Given the description of an element on the screen output the (x, y) to click on. 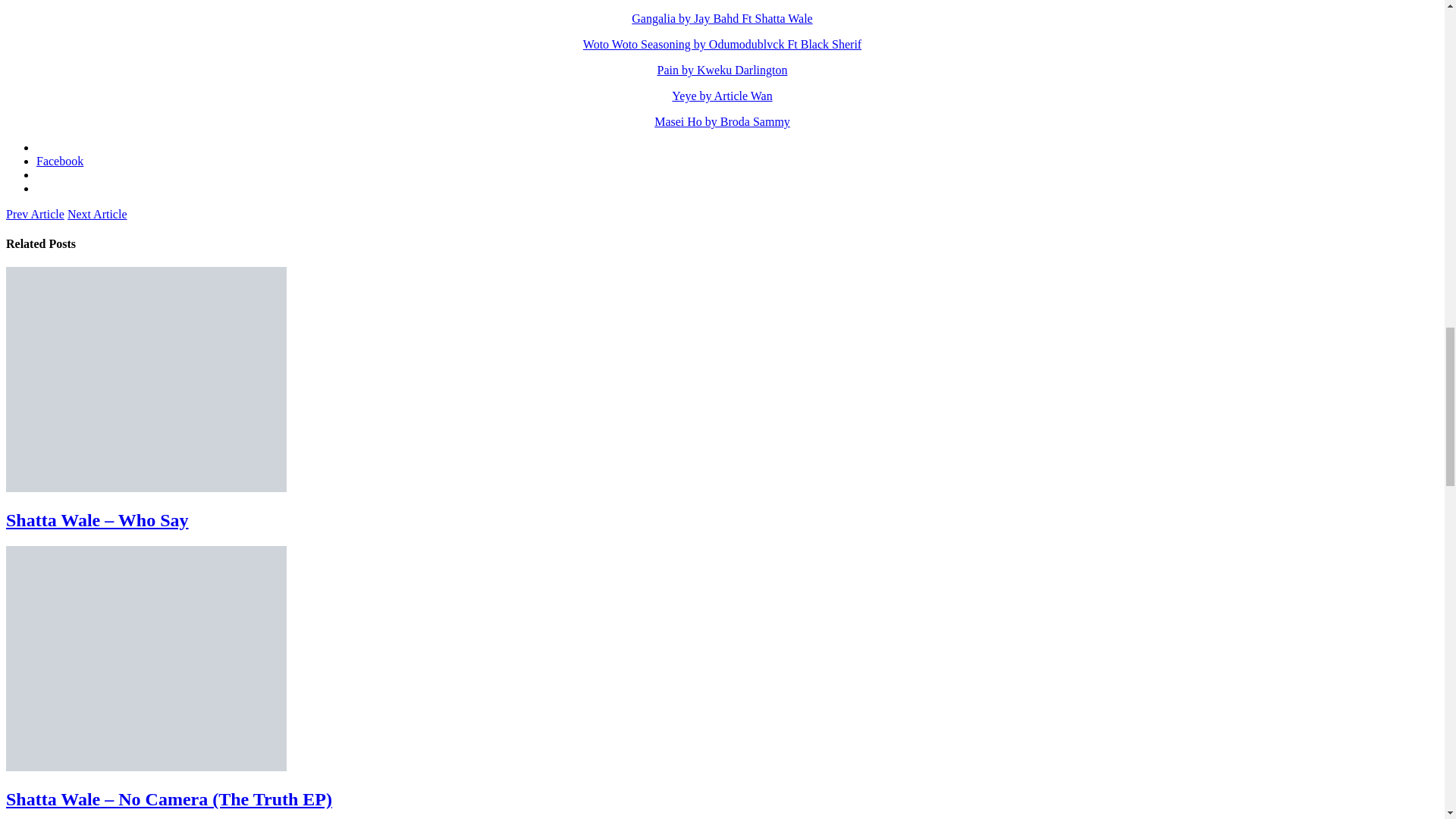
Pain by Kweku Darlington (721, 69)
Yeye by Article Wan (721, 95)
Gangalia by Jay Bahd Ft Shatta Wale (721, 18)
Masei Ho by Broda Sammy (721, 121)
Facebook (59, 160)
Woto Woto Seasoning by Odumodublvck Ft Black Sherif (722, 43)
